Given the description of an element on the screen output the (x, y) to click on. 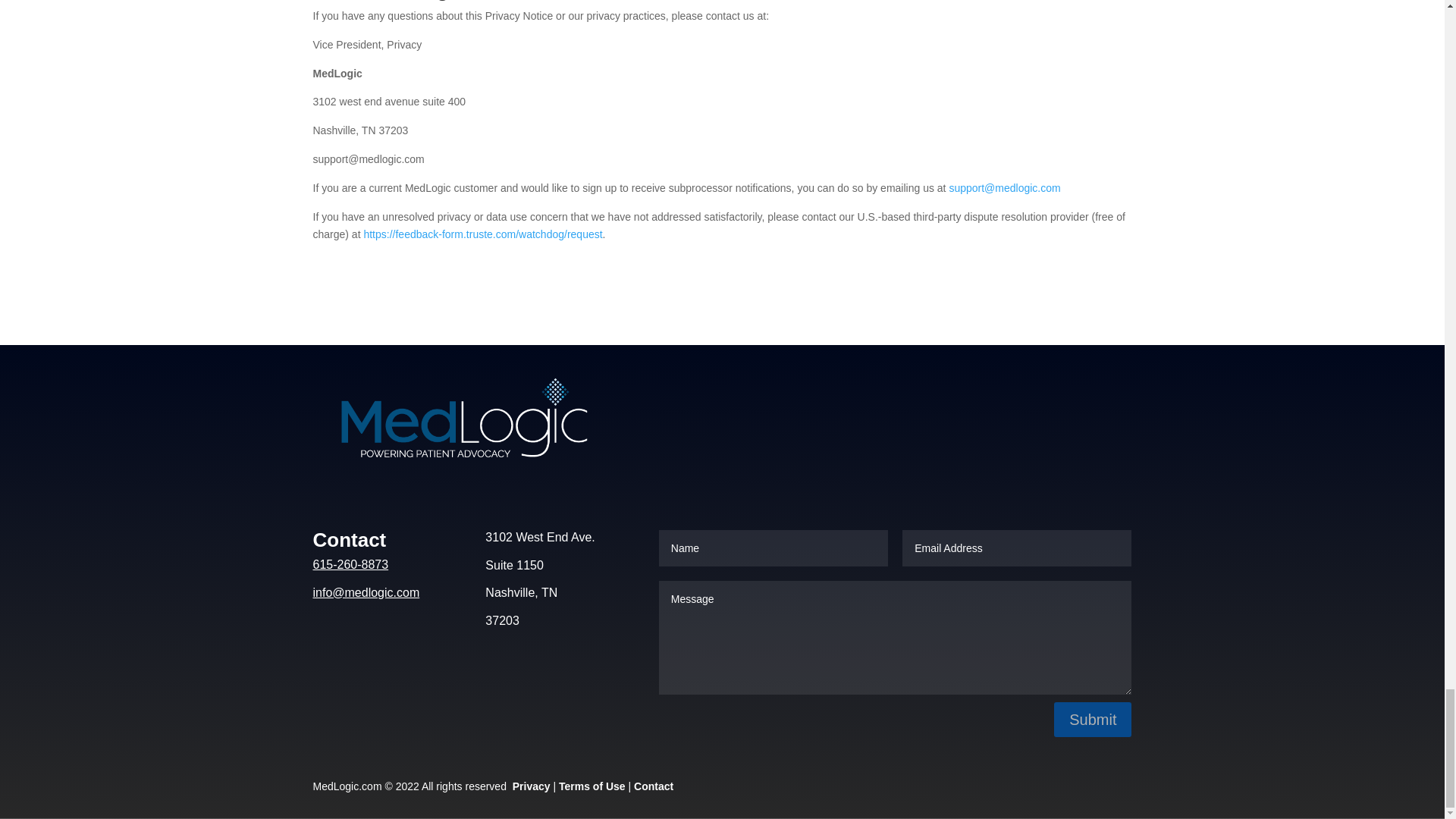
615-260-8873 (350, 563)
MedLogic Powering Patient Advocacy (455, 426)
Submit (1092, 719)
Privacy (531, 786)
Contact (652, 786)
Terms of Use (592, 786)
